Given the description of an element on the screen output the (x, y) to click on. 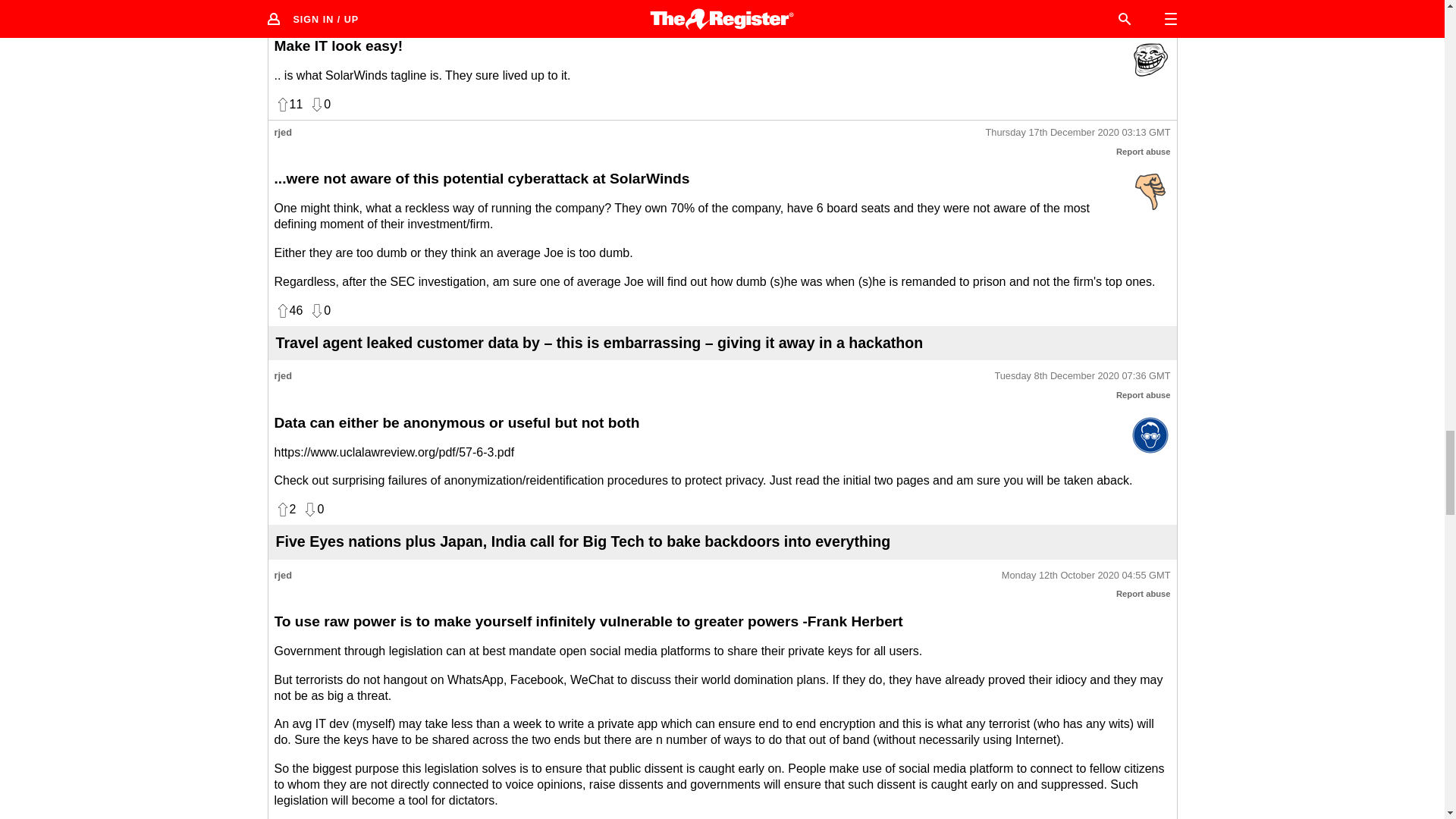
Report abuse (1143, 151)
Report abuse (1143, 17)
Report abuse (1143, 394)
Report abuse (1143, 593)
